Given the description of an element on the screen output the (x, y) to click on. 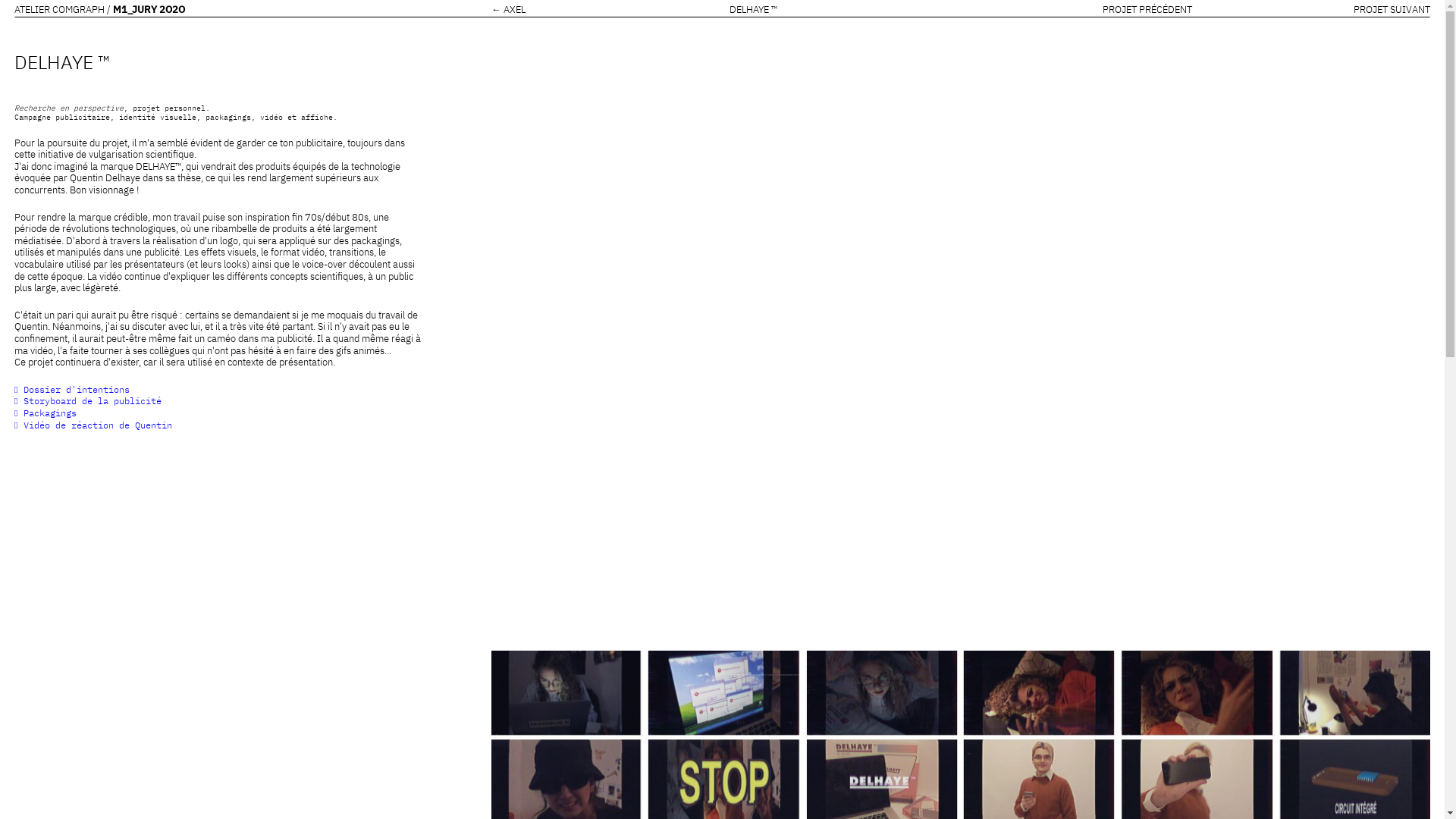
Dossier d'intentions Element type: text (71, 389)
ATELIER COMGRAPH / M1_JURY 2O2O Element type: text (99, 9)
Packagings Element type: text (45, 412)
PROJET SUIVANT Element type: text (1391, 9)
